Given the description of an element on the screen output the (x, y) to click on. 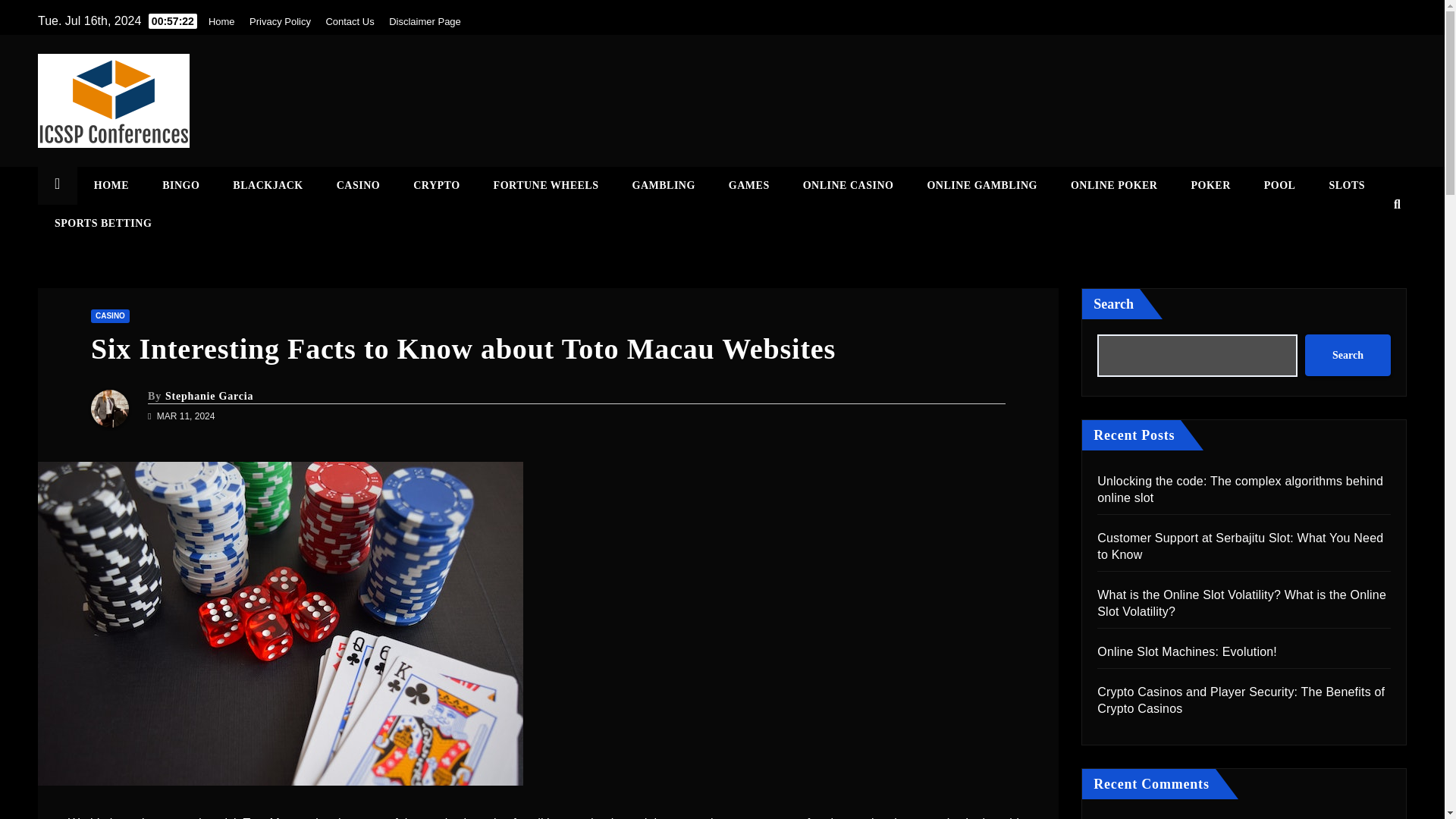
Online Poker (1114, 185)
Online Gambling (982, 185)
Games (748, 185)
POKER (1209, 185)
BINGO (180, 185)
Casino (358, 185)
CRYPTO (436, 185)
Stephanie Garcia (209, 396)
SLOTS (1346, 185)
HOME (111, 185)
Bingo (180, 185)
Fortune Wheels (546, 185)
Sports Betting (102, 223)
Blackjack (266, 185)
ONLINE CASINO (848, 185)
